Given the description of an element on the screen output the (x, y) to click on. 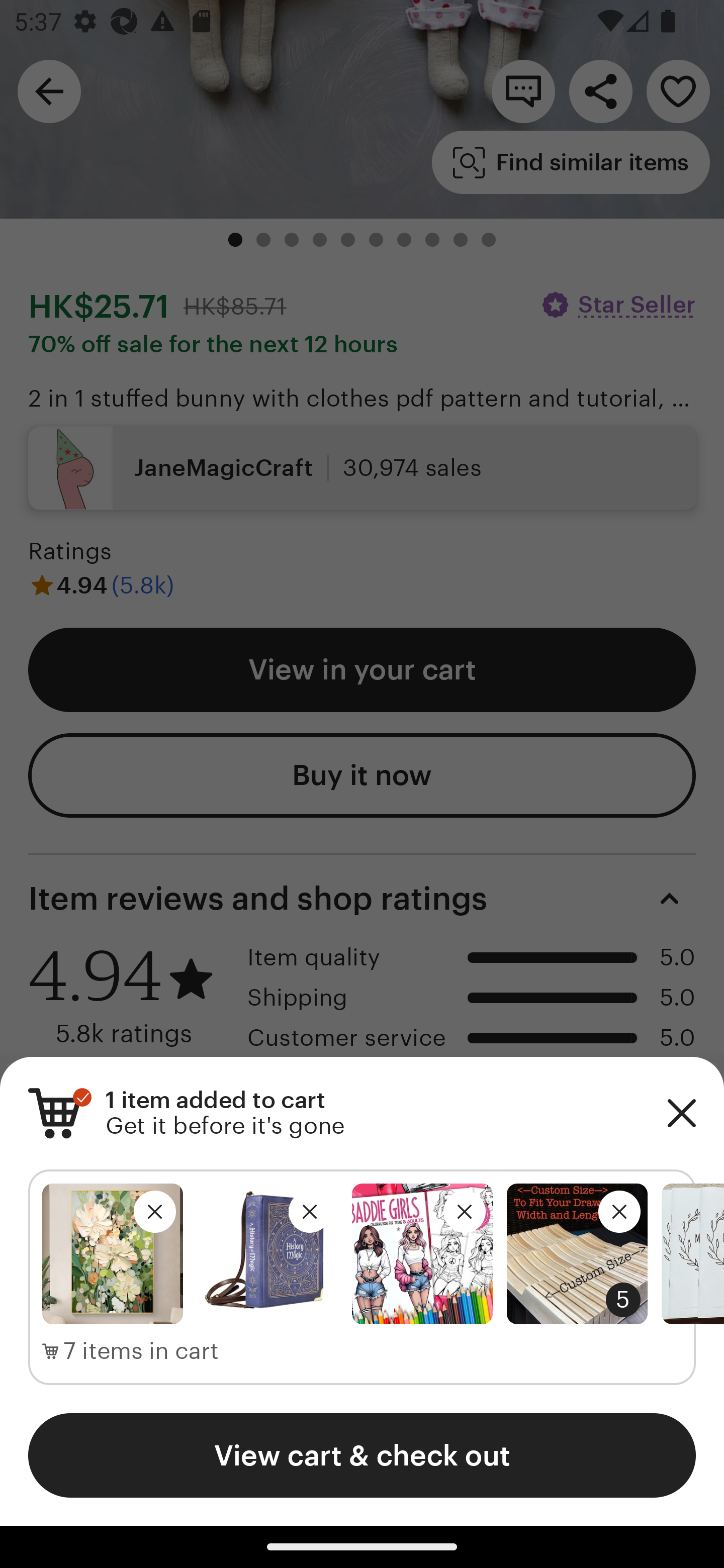
7 items in cart (130, 1351)
View cart & check out (361, 1454)
